Given the description of an element on the screen output the (x, y) to click on. 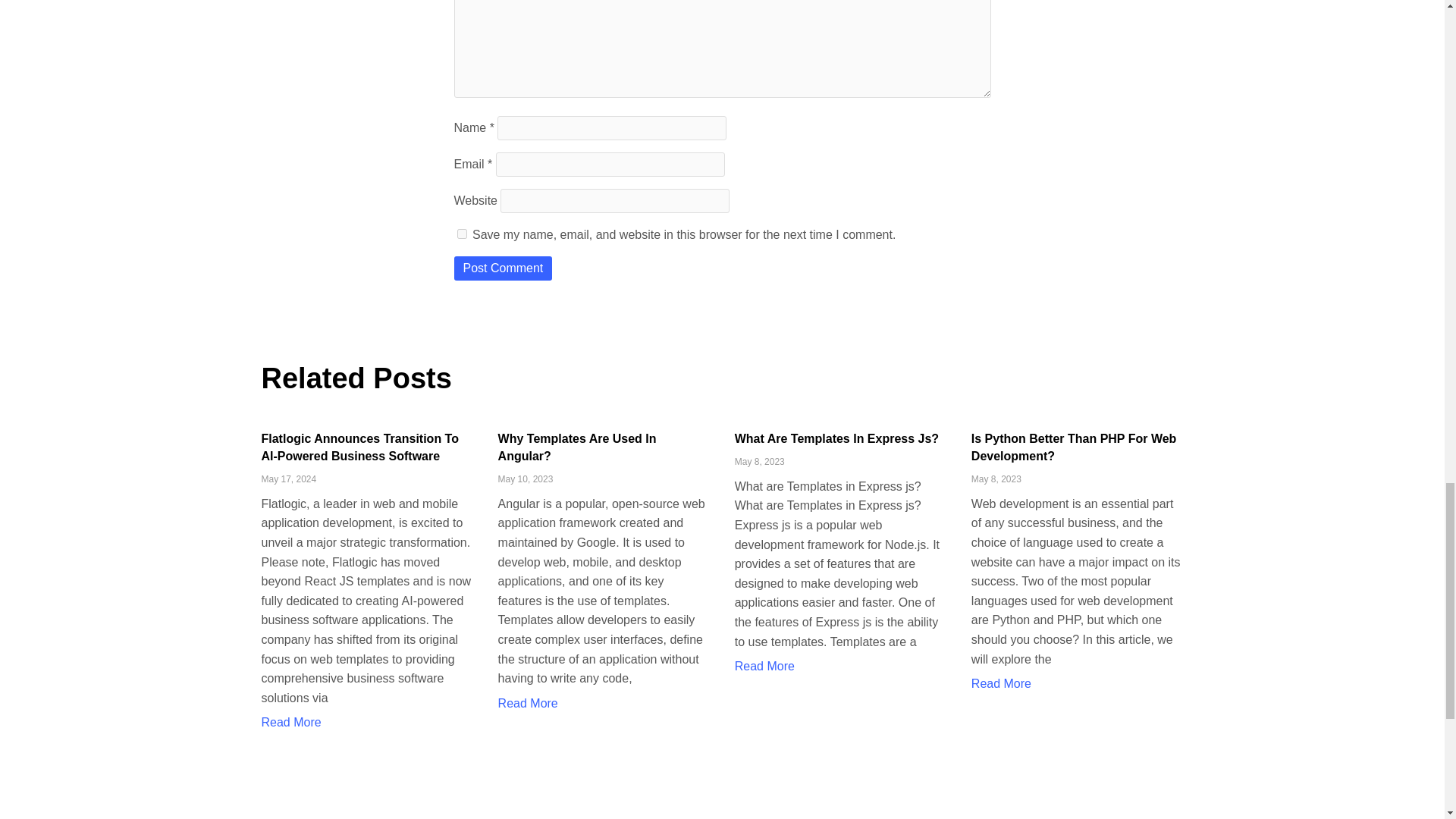
yes (461, 234)
Is Python Better Than PHP For Web Development? (1073, 447)
Read More (764, 666)
Read More (290, 721)
Post Comment (501, 268)
Why Templates Are Used In Angular? (576, 447)
Post Comment (501, 268)
Read More (527, 703)
What Are Templates In Express Js? (837, 438)
